Given the description of an element on the screen output the (x, y) to click on. 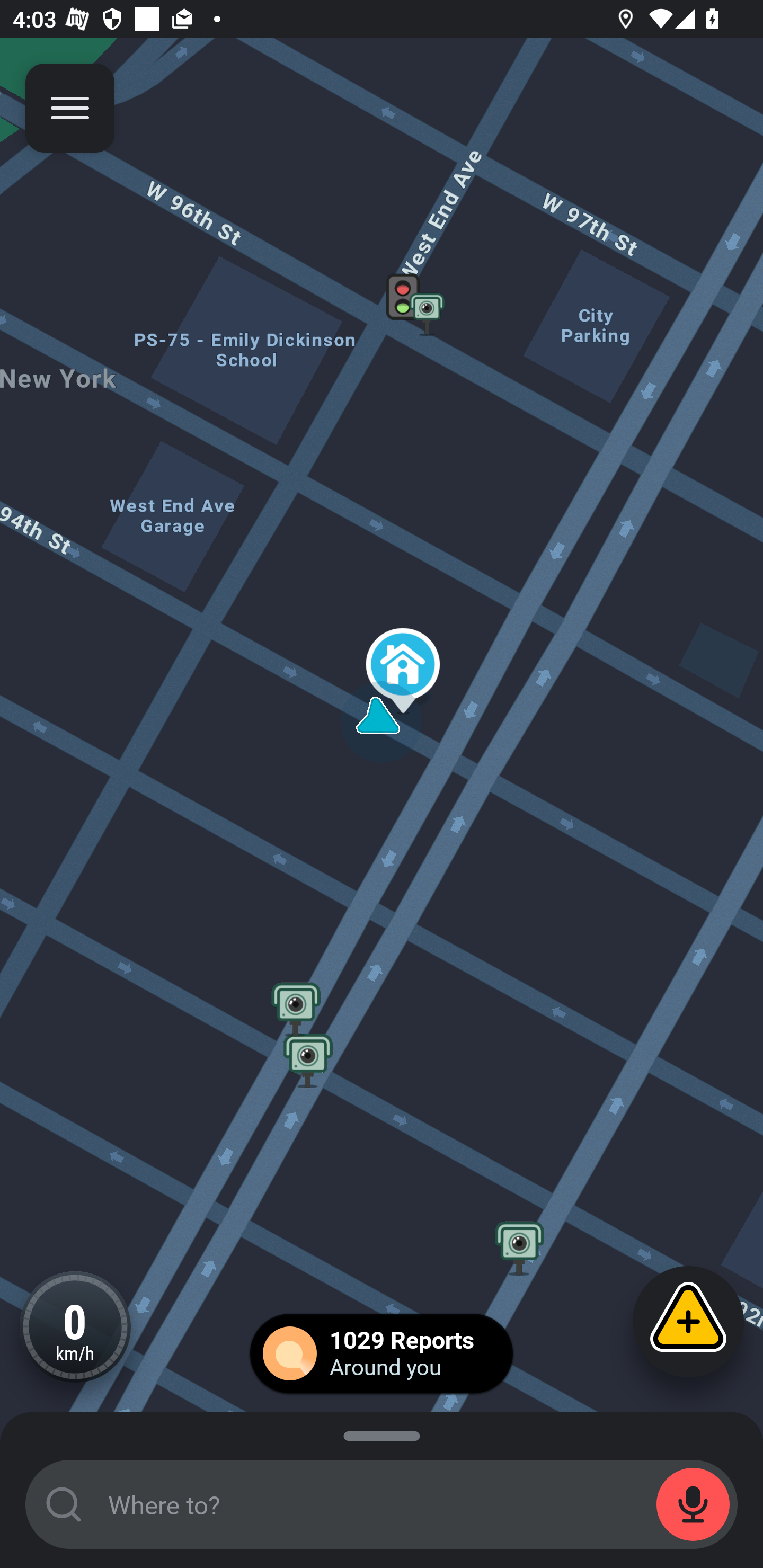
SUGGESTIONS_SHEET_DRAG_HANDLE (381, 1432)
START_STATE_SEARCH_FIELD Where to? (381, 1504)
